Given the description of an element on the screen output the (x, y) to click on. 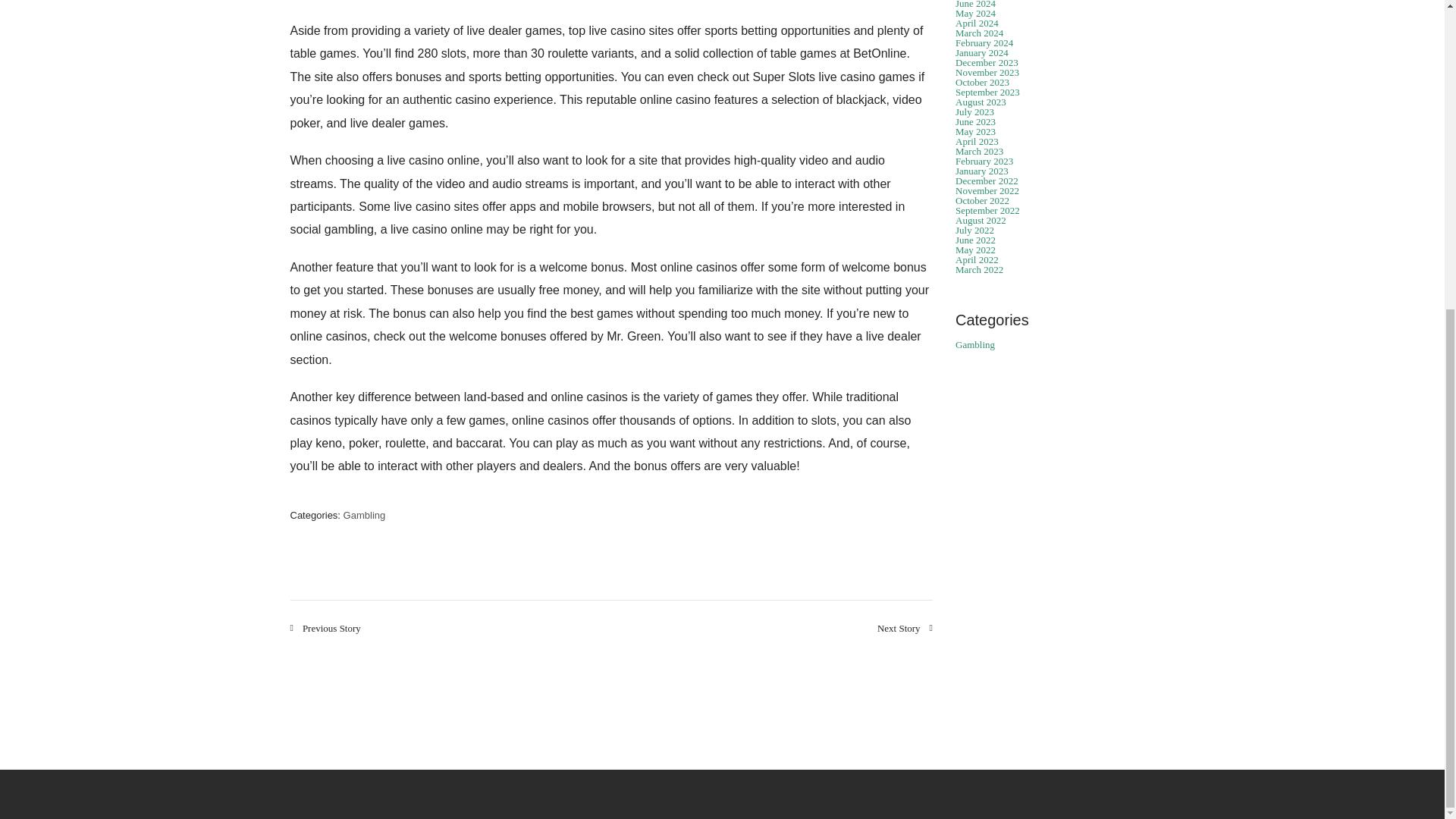
May 2023 (975, 131)
October 2023 (982, 81)
January 2024 (982, 52)
June 2024 (975, 4)
May 2024 (975, 12)
June 2023 (975, 121)
November 2023 (987, 71)
March 2023 (979, 151)
March 2024 (979, 32)
February 2024 (984, 42)
Gambling (364, 514)
August 2023 (980, 101)
April 2023 (976, 141)
Previous Story (324, 628)
September 2023 (987, 91)
